Given the description of an element on the screen output the (x, y) to click on. 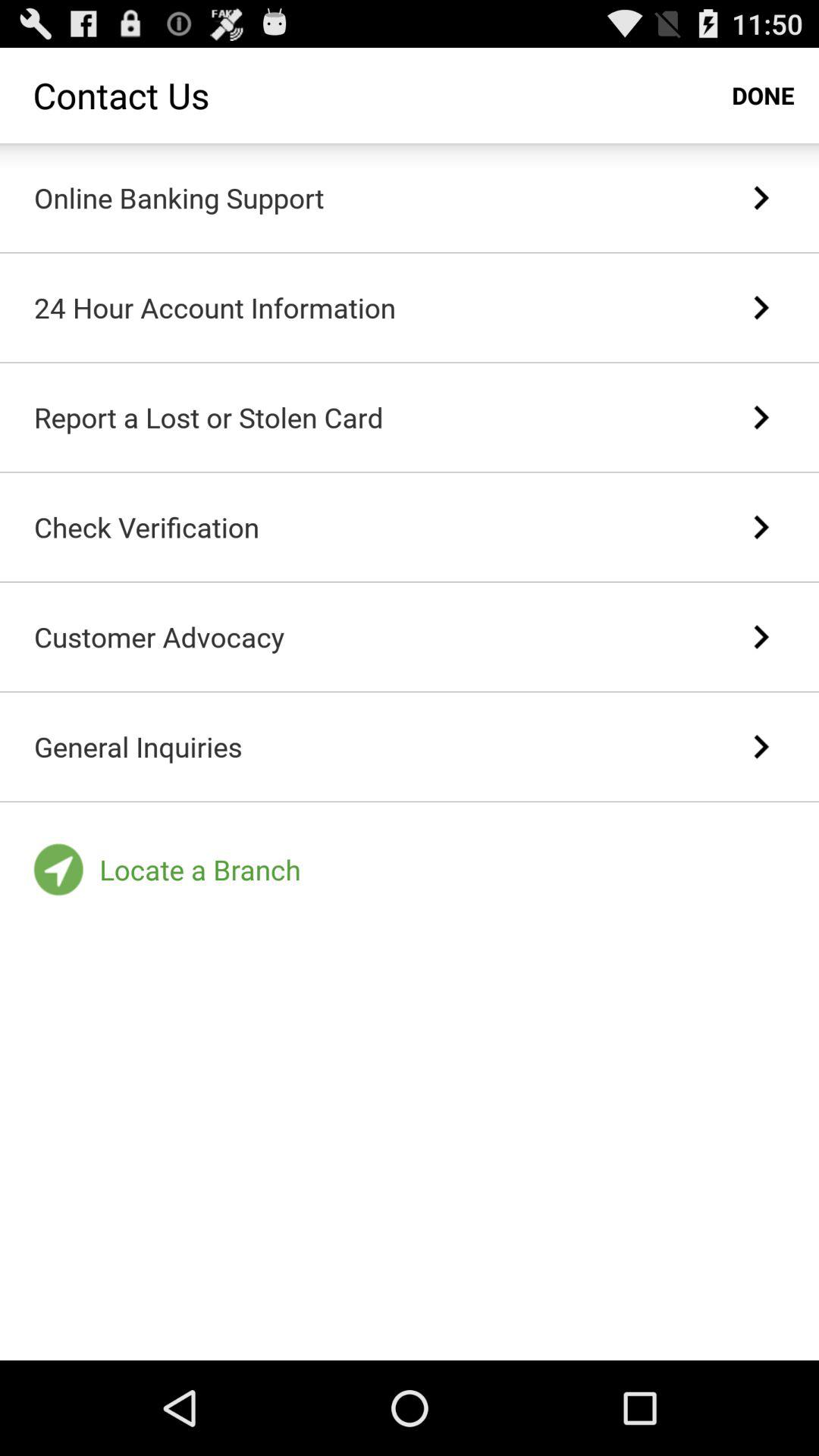
swipe until customer advocacy (159, 636)
